Given the description of an element on the screen output the (x, y) to click on. 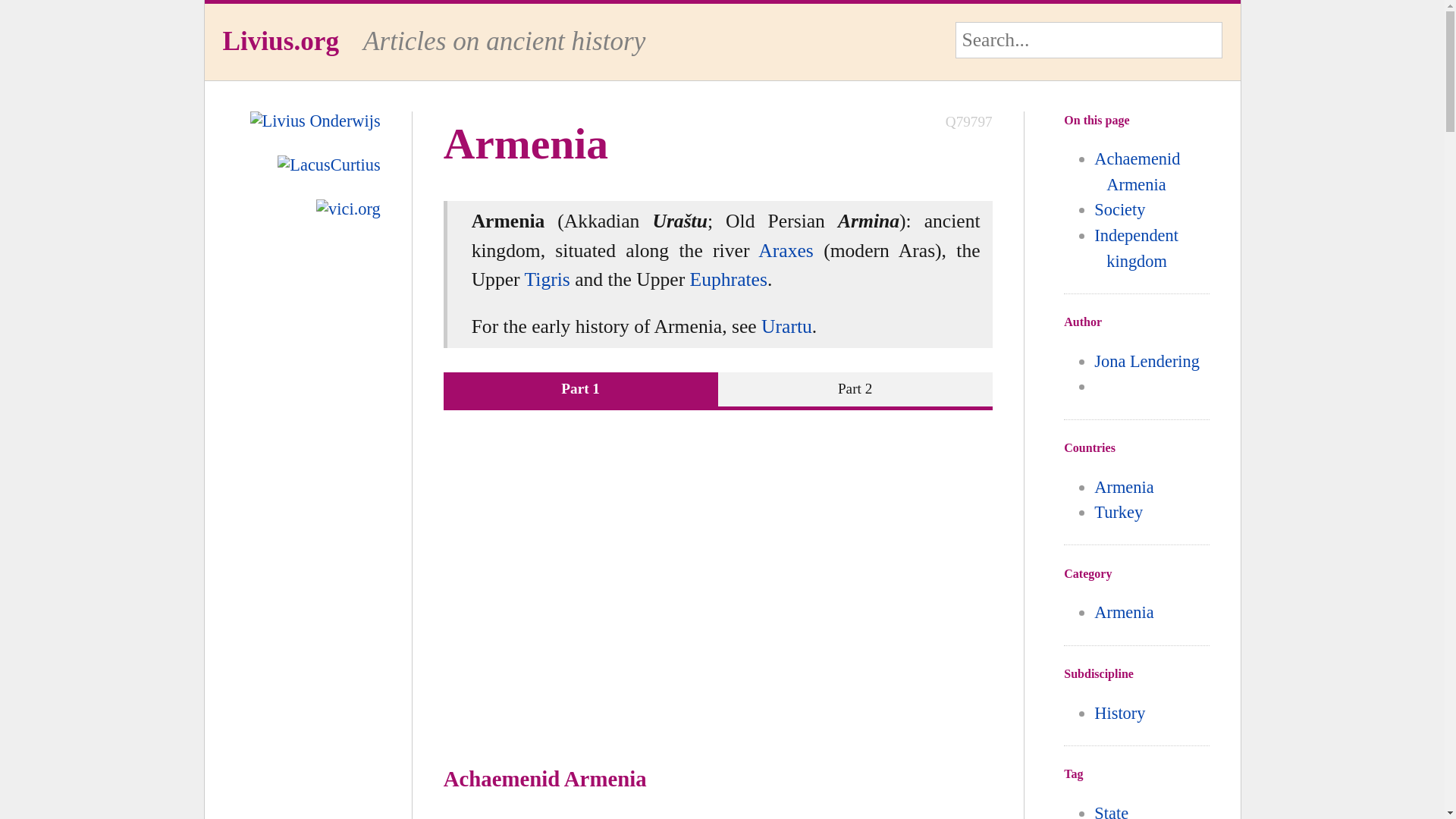
Wikidata ID (968, 122)
Euphrates (728, 279)
Livius.org (280, 41)
Tigris (547, 279)
Urartu (786, 326)
Q79797 (968, 122)
Part 2 (854, 389)
Araxes (785, 250)
Part 1 (580, 389)
